Given the description of an element on the screen output the (x, y) to click on. 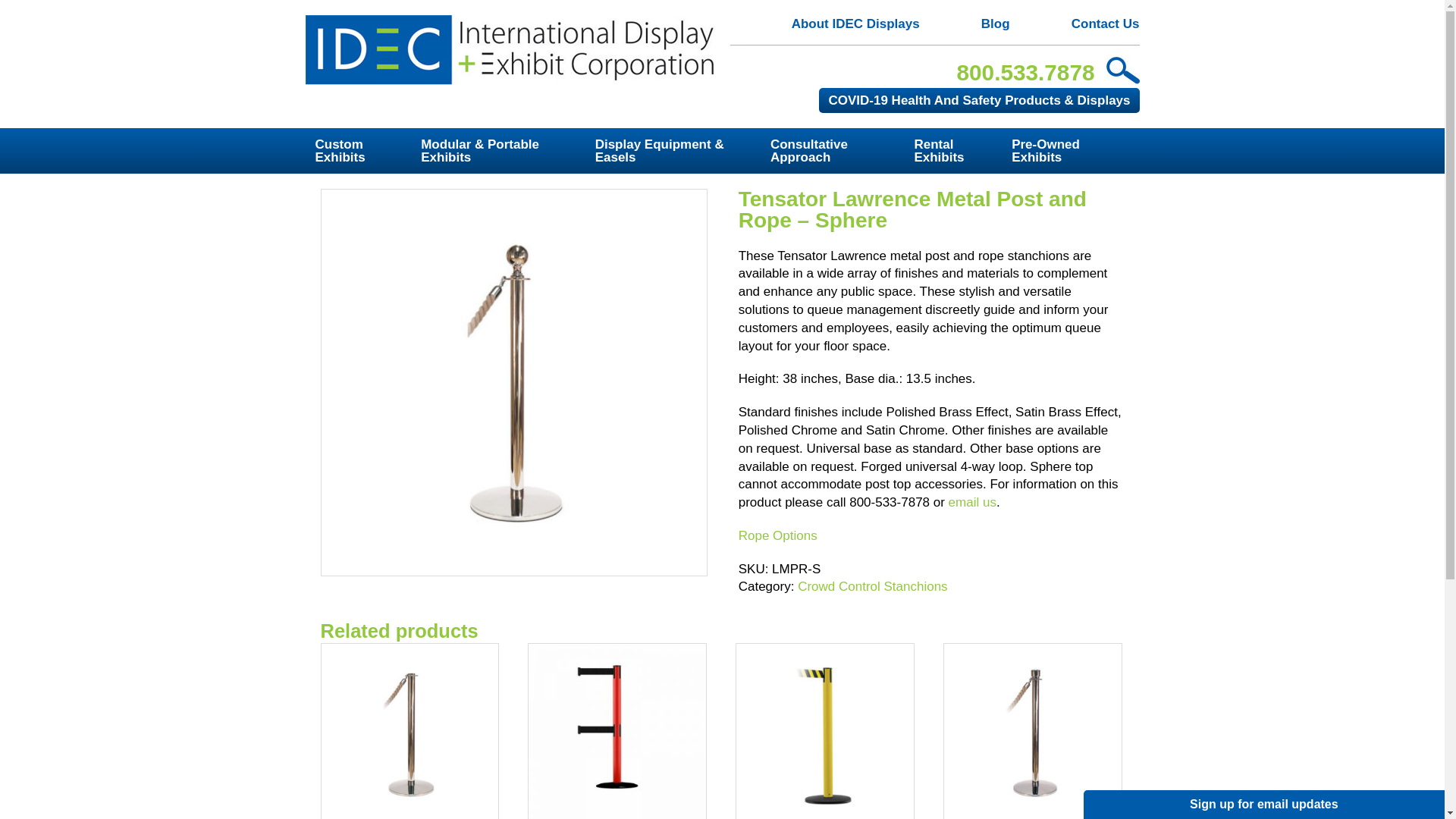
Contact Us (1075, 24)
Rental Exhibits (958, 150)
800.533.7878 (1025, 72)
About IDEC Displays (823, 24)
Crowd Control Stanchions (872, 586)
Pre-Owned Exhibits (1069, 150)
IDEC Displays (509, 50)
Blog (965, 24)
Custom Exhibits (363, 150)
email us (972, 502)
Rope Options (777, 535)
Consultative Approach (838, 150)
